Given the description of an element on the screen output the (x, y) to click on. 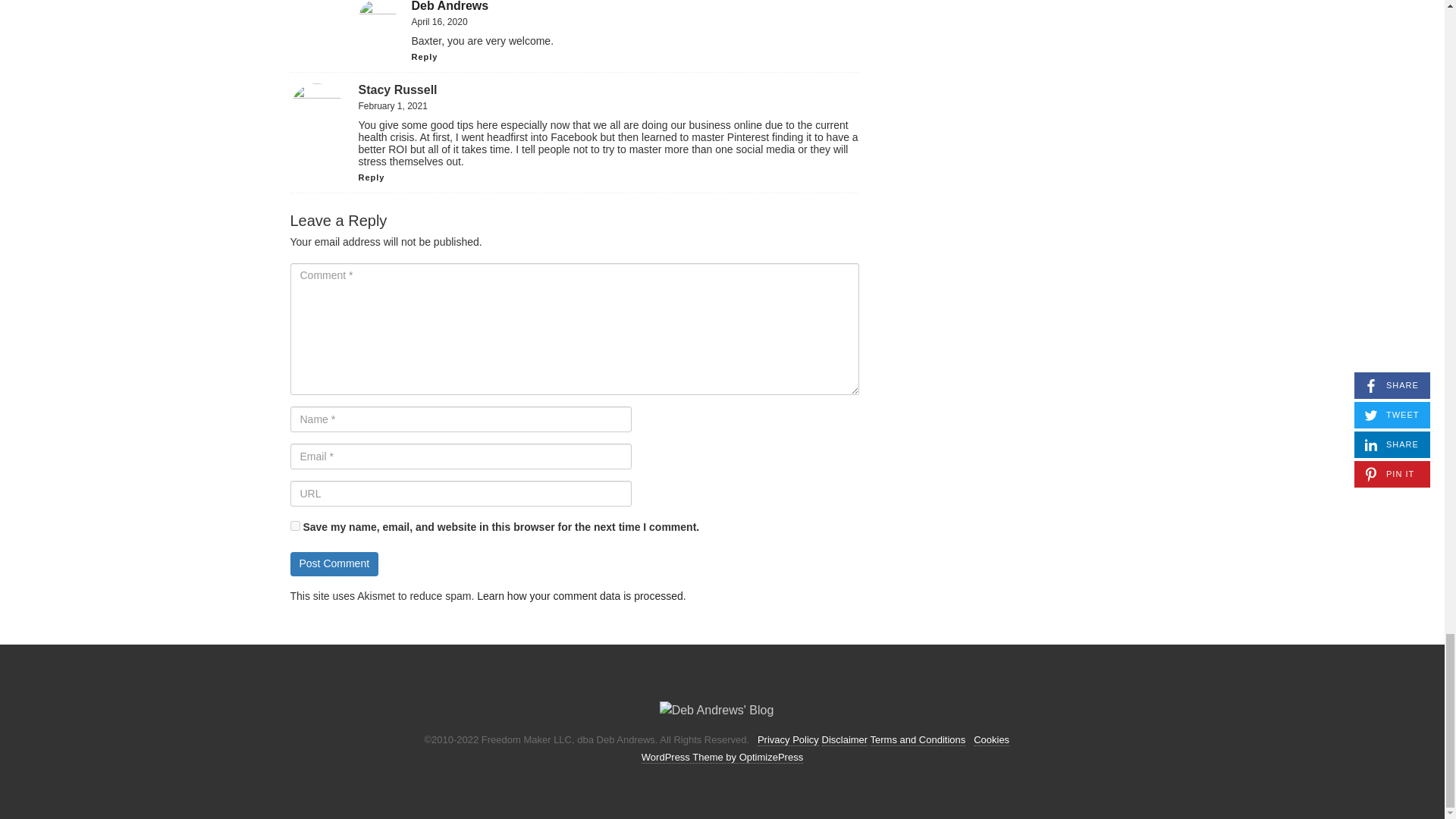
Deb Andrews' Blog (716, 710)
Reply (371, 176)
Post Comment (333, 564)
Post Comment (333, 564)
Learn how your comment data is processed (579, 595)
Stacy Russell (397, 89)
Reply (424, 56)
yes (294, 525)
